Given the description of an element on the screen output the (x, y) to click on. 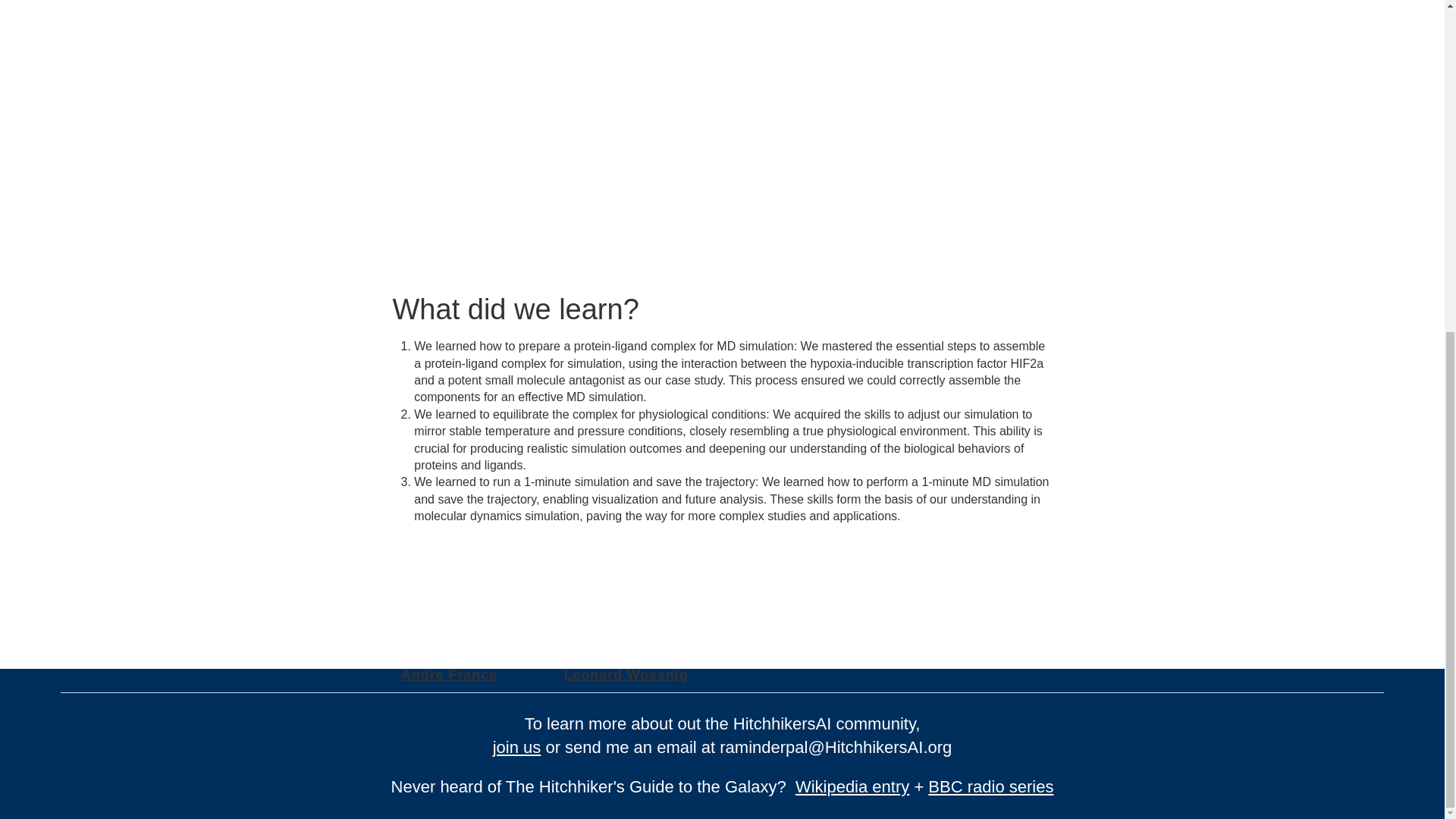
Leonard Wossnig (625, 674)
join us (517, 746)
Andre Franca (449, 674)
Wikipedia entry (851, 786)
BBC radio series (990, 786)
